Given the description of an element on the screen output the (x, y) to click on. 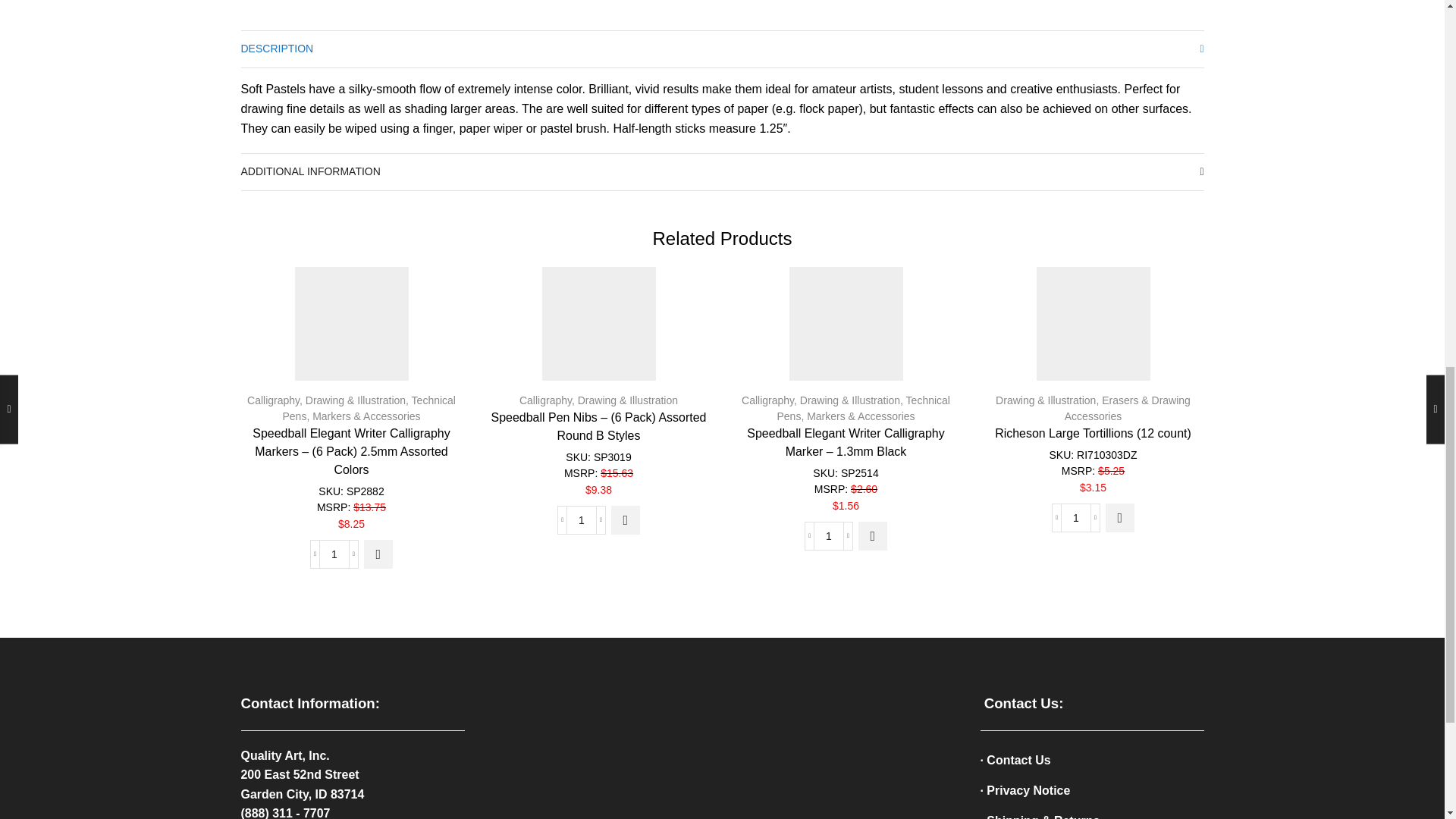
1 (1075, 517)
1 (828, 535)
1 (581, 520)
1 (334, 553)
